Given the description of an element on the screen output the (x, y) to click on. 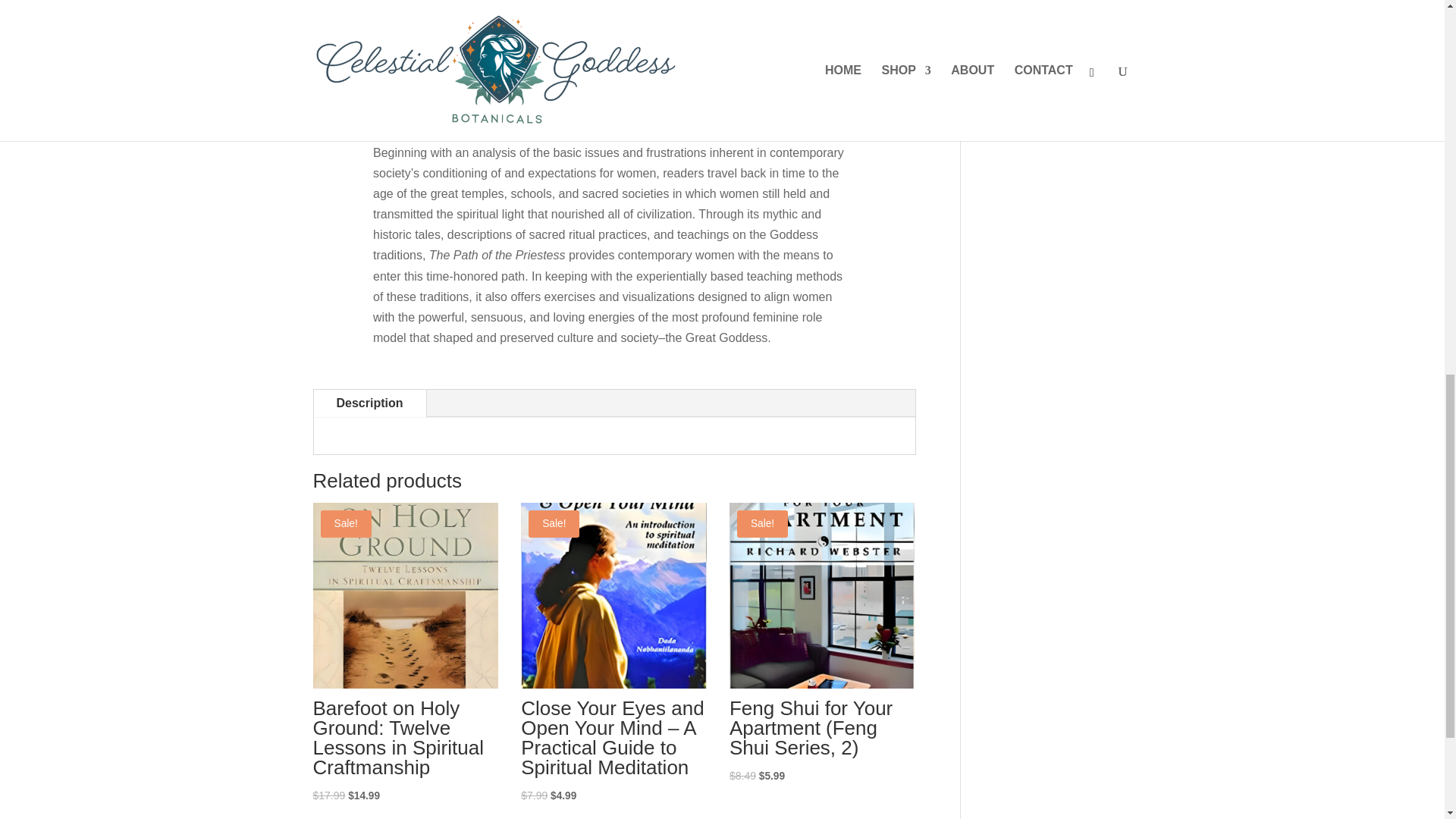
Description (370, 402)
